Given the description of an element on the screen output the (x, y) to click on. 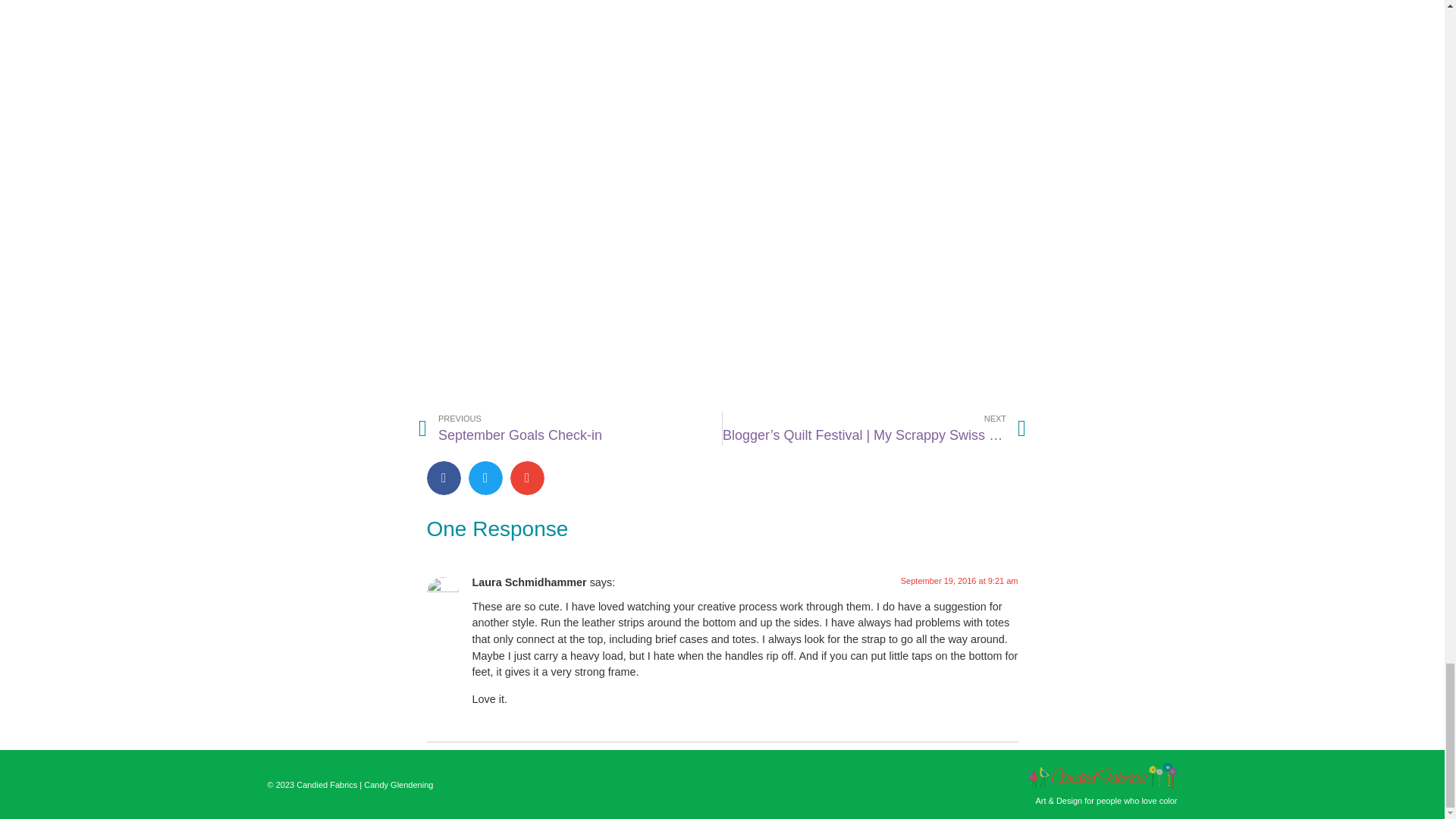
September 19, 2016 at 9:21 am (959, 580)
